Given the description of an element on the screen output the (x, y) to click on. 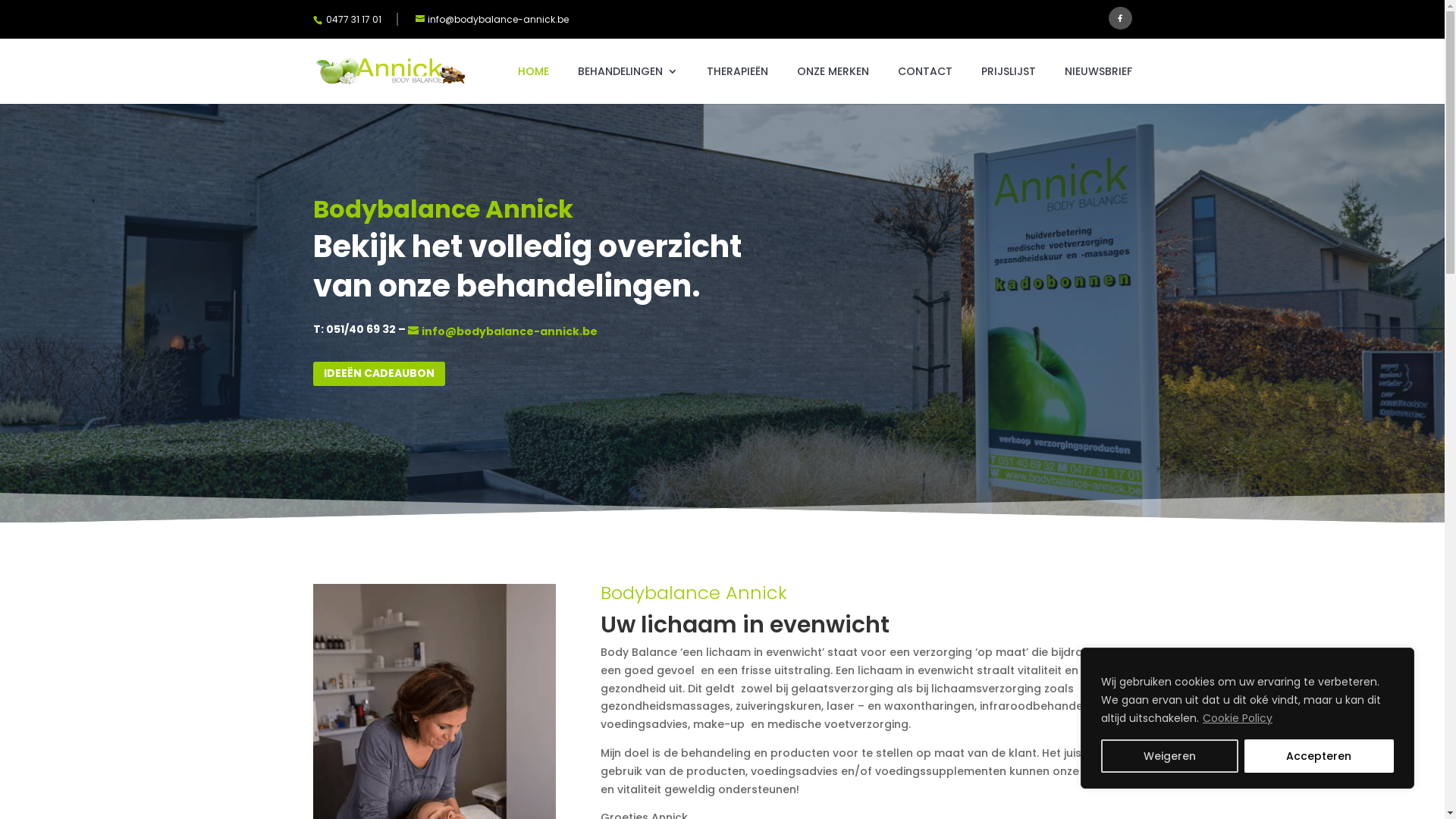
Weigeren Element type: text (1169, 755)
info@bodybalance-annick.be Element type: text (502, 330)
PRIJSLIJST Element type: text (1008, 84)
BEHANDELINGEN Element type: text (627, 84)
CONTACT Element type: text (924, 84)
Accepteren Element type: text (1318, 755)
Cookie Policy Element type: text (1237, 717)
NIEUWSBRIEF Element type: text (1098, 84)
HOME Element type: text (532, 84)
ONZE MERKEN Element type: text (832, 84)
info@bodybalance-annick.be Element type: text (499, 16)
